Given the description of an element on the screen output the (x, y) to click on. 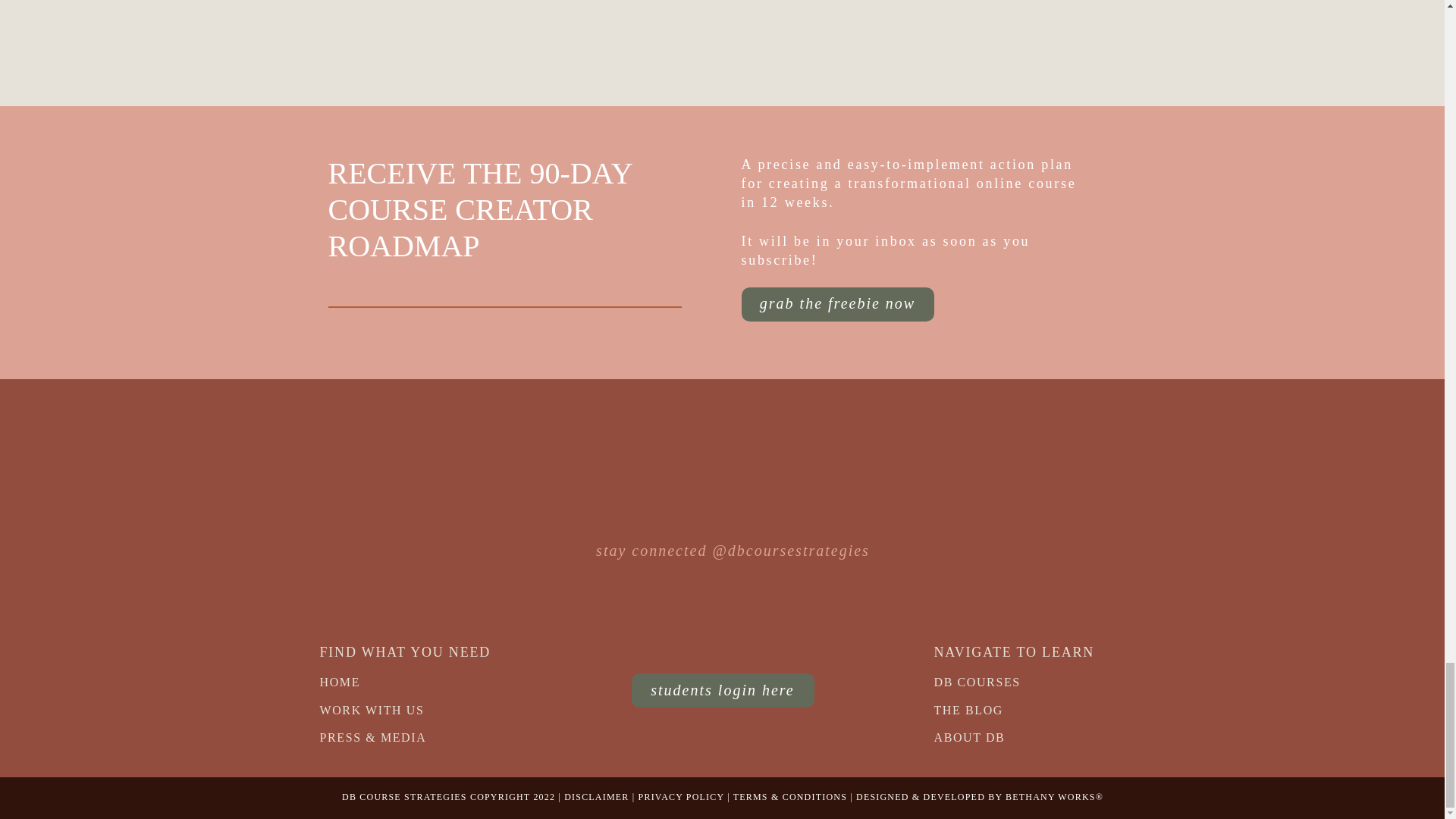
HOME (372, 680)
DB COURSES (986, 680)
DISCLAIMER (596, 796)
ABOUT DB (1005, 735)
WORK WITH US  (391, 708)
THE BLOG  (1005, 708)
PRIVACY POLICY (681, 796)
grab the freebie now (836, 298)
students login here (723, 685)
